Given the description of an element on the screen output the (x, y) to click on. 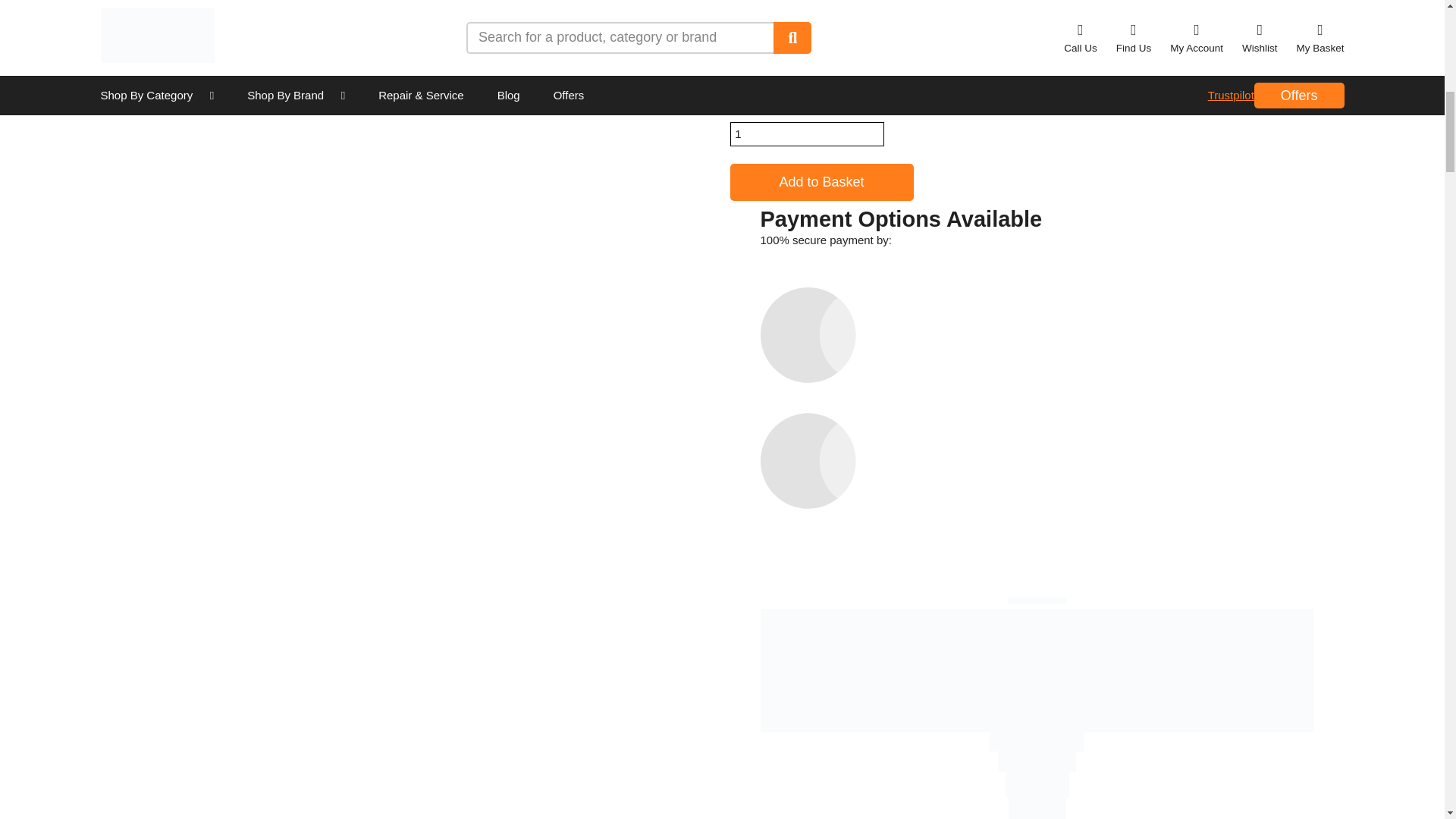
1 (806, 134)
